Given the description of an element on the screen output the (x, y) to click on. 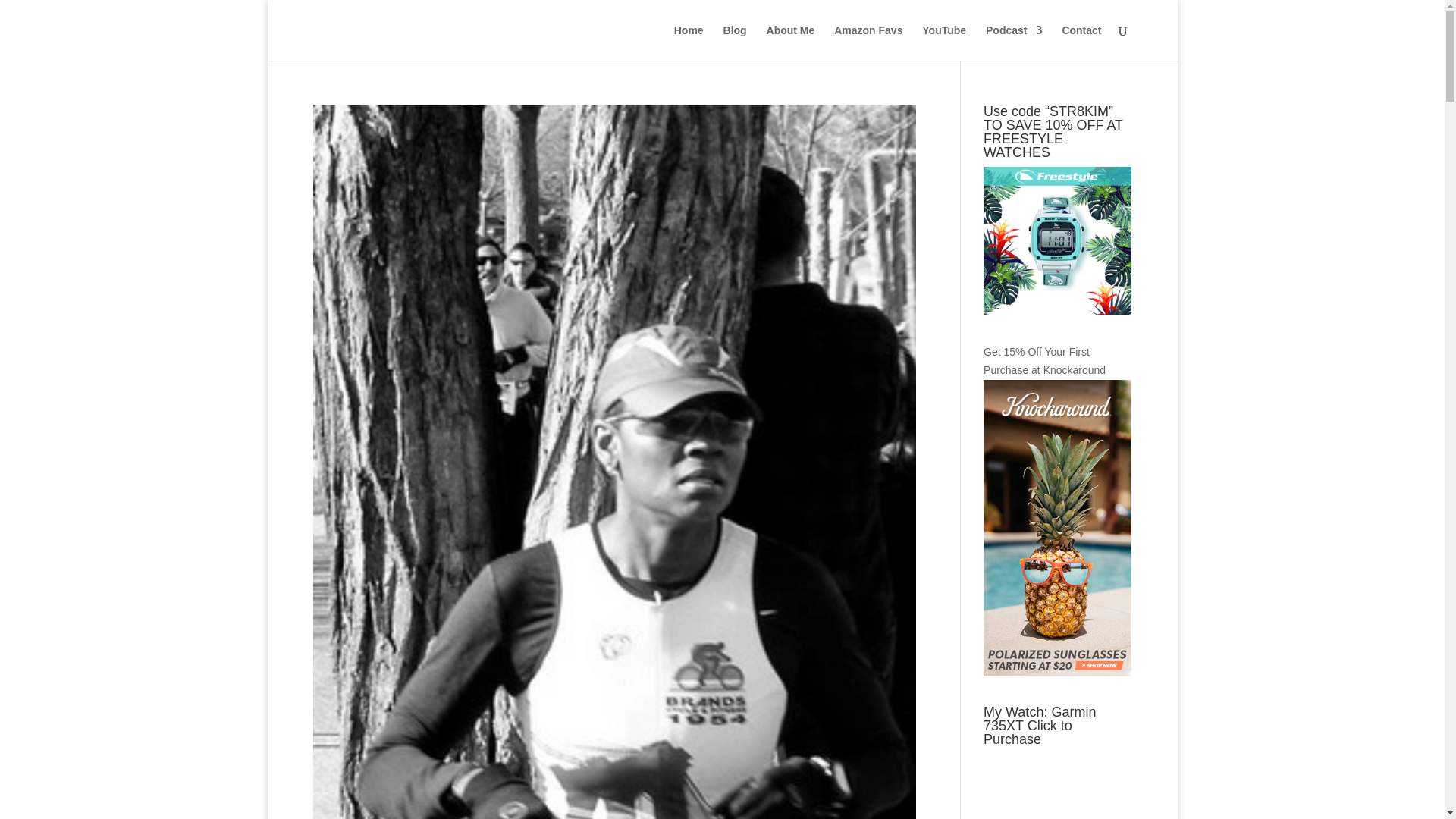
About Me (791, 42)
Contact (1080, 42)
YouTube (943, 42)
Podcast (1013, 42)
Amazon Favs (868, 42)
